Given the description of an element on the screen output the (x, y) to click on. 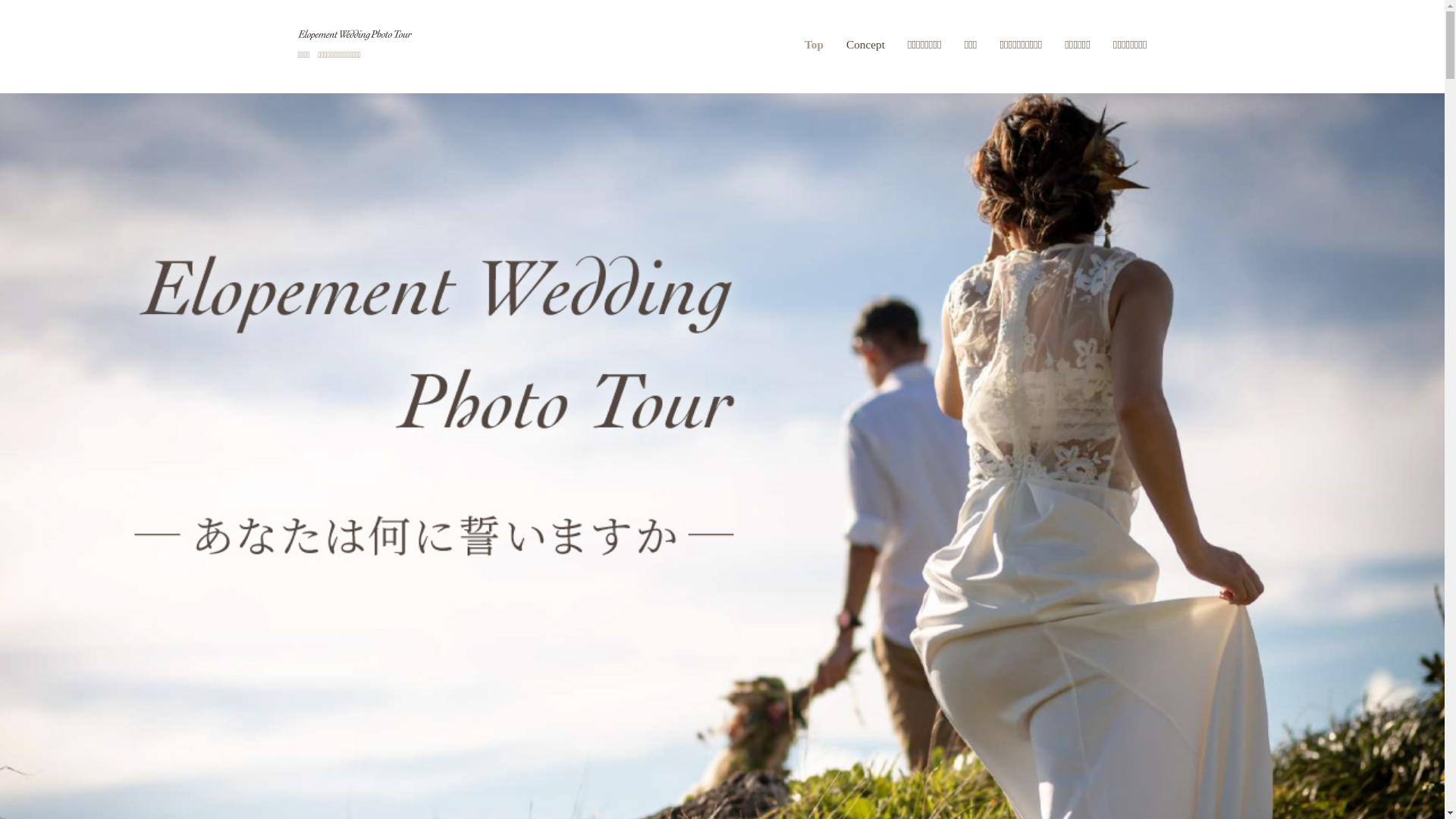
Top Element type: text (819, 44)
Concept Element type: text (865, 44)
